Given the description of an element on the screen output the (x, y) to click on. 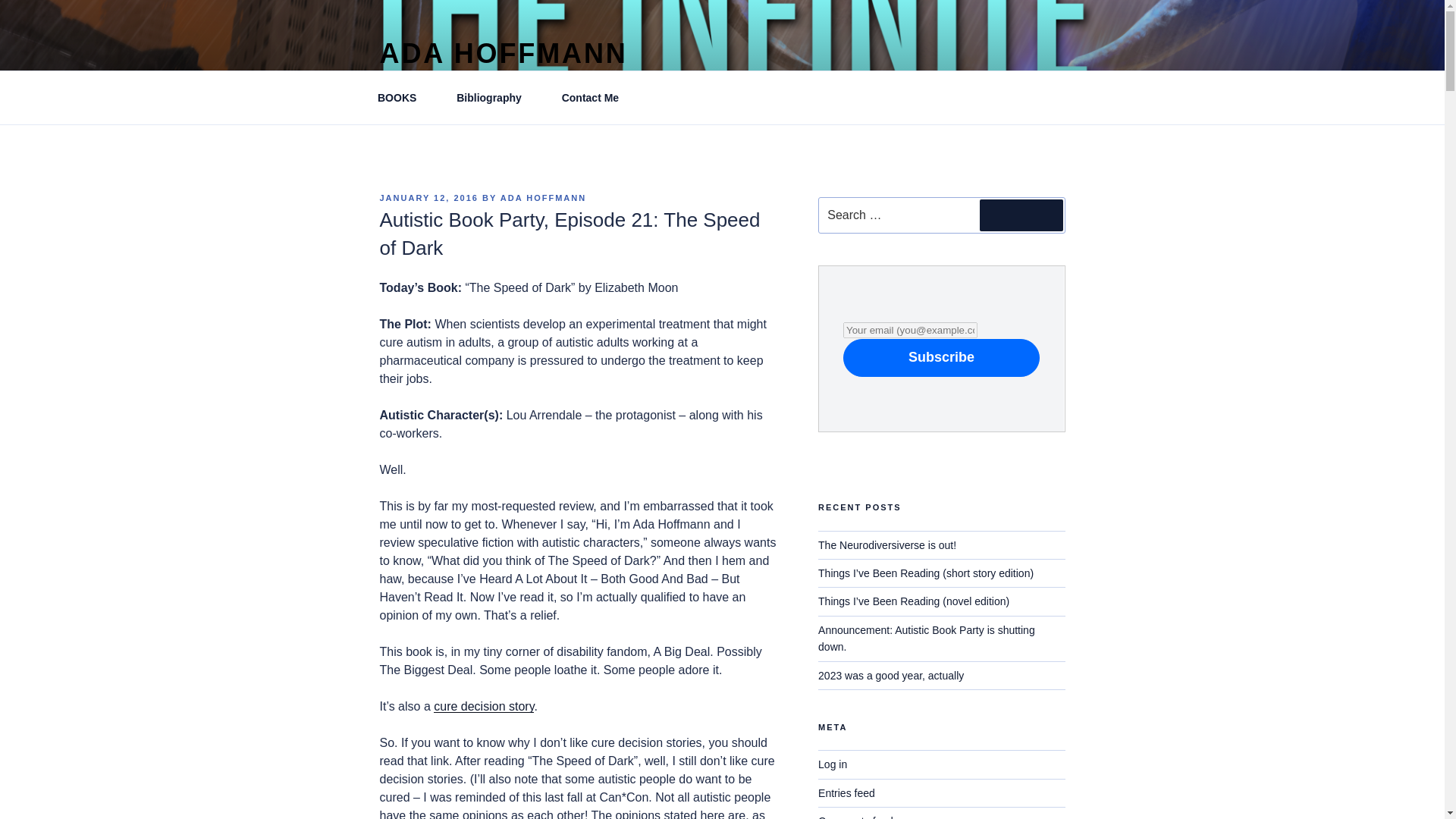
ADA HOFFMANN (543, 197)
JANUARY 12, 2016 (427, 197)
cure decision story (483, 706)
ADA HOFFMANN (502, 52)
Bibliography (495, 97)
Contact Me (595, 97)
BOOKS (401, 97)
